Given the description of an element on the screen output the (x, y) to click on. 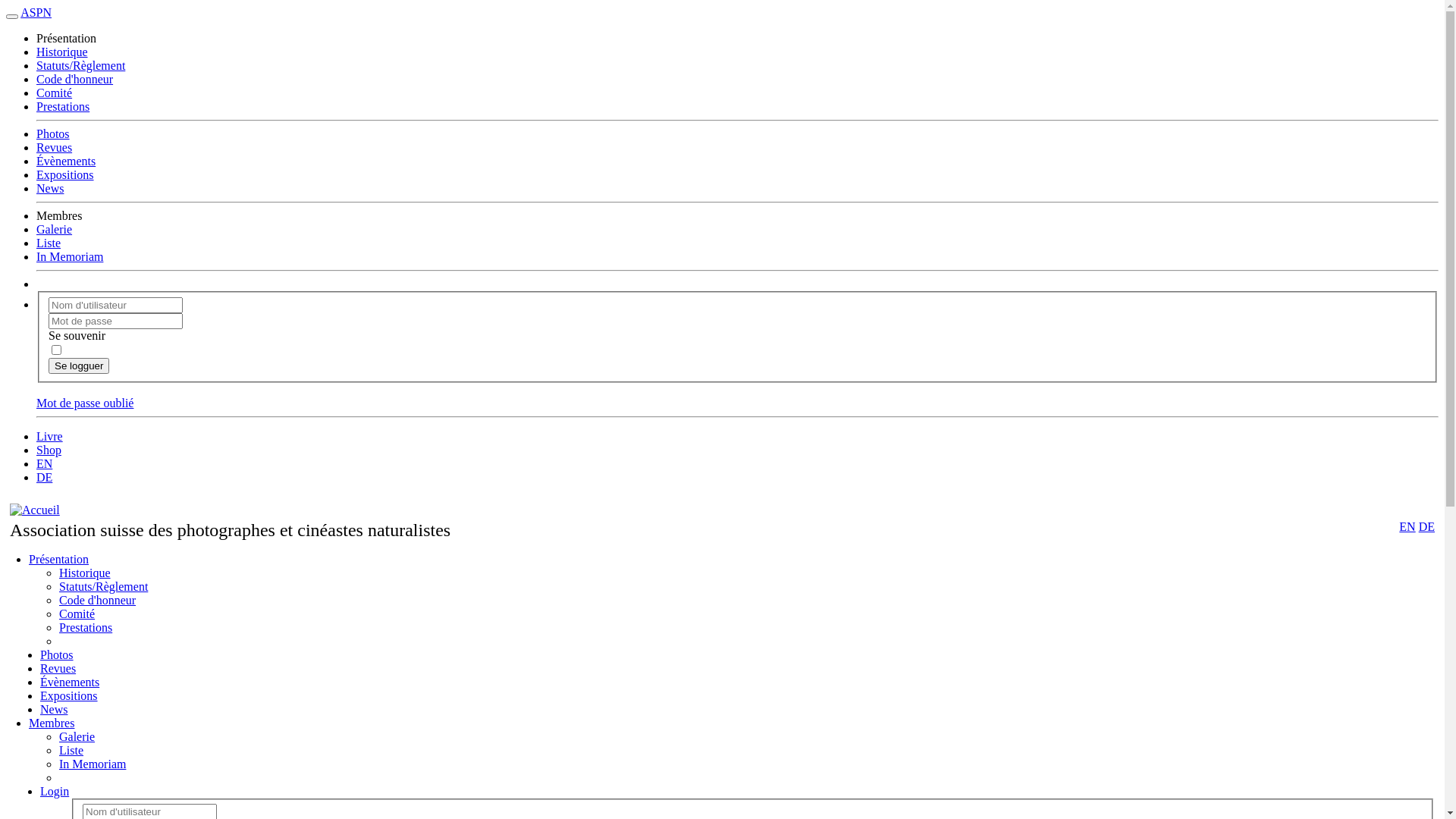
EN Element type: text (44, 463)
Se logguer Element type: text (78, 365)
DE Element type: text (1426, 526)
Prestations Element type: text (62, 106)
Accueil Element type: hover (34, 510)
Photos Element type: text (52, 133)
Liste Element type: text (48, 242)
Revues Element type: text (57, 668)
Revues Element type: text (54, 147)
News Element type: text (53, 708)
Membres Element type: text (51, 722)
Historique Element type: text (61, 51)
In Memoriam Element type: text (92, 763)
DE Element type: text (44, 476)
In Memoriam Element type: text (69, 256)
Prestations Element type: text (85, 627)
Expositions Element type: text (65, 174)
Login Element type: text (54, 790)
Expositions Element type: text (68, 695)
Photos Element type: text (56, 654)
EN Element type: text (1407, 526)
Historique Element type: text (84, 572)
Liste Element type: text (71, 749)
Code d'honneur Element type: text (74, 78)
Code d'honneur Element type: text (97, 599)
News Element type: text (49, 188)
Galerie Element type: text (76, 736)
Livre Element type: text (49, 435)
Galerie Element type: text (54, 228)
Shop Element type: text (48, 449)
ASPN Element type: text (35, 12)
